Given the description of an element on the screen output the (x, y) to click on. 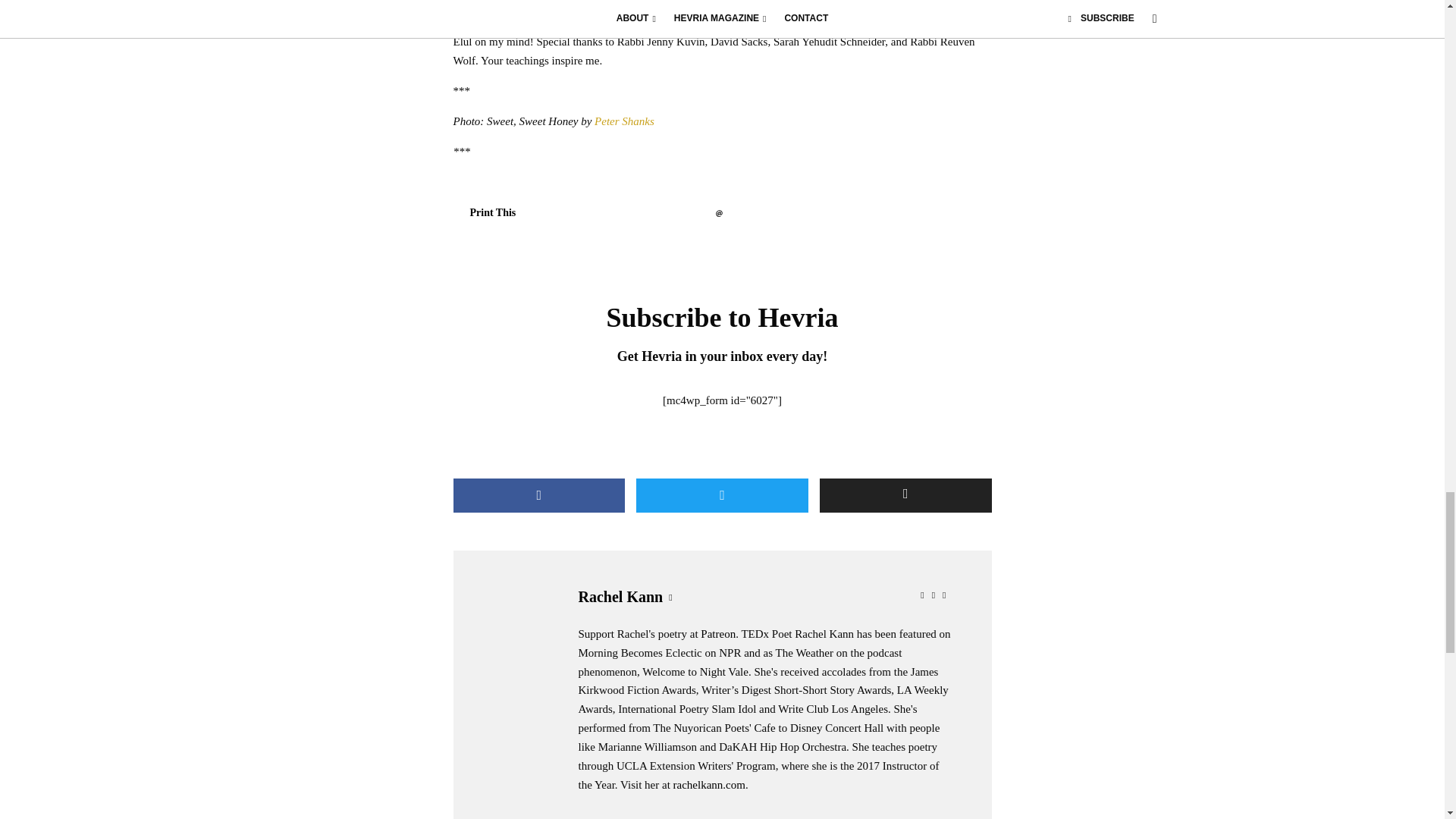
Rachel Kann (620, 596)
Print This (484, 212)
Peter Shanks (623, 121)
rachelkann.com (708, 784)
Patreon (717, 633)
